Given the description of an element on the screen output the (x, y) to click on. 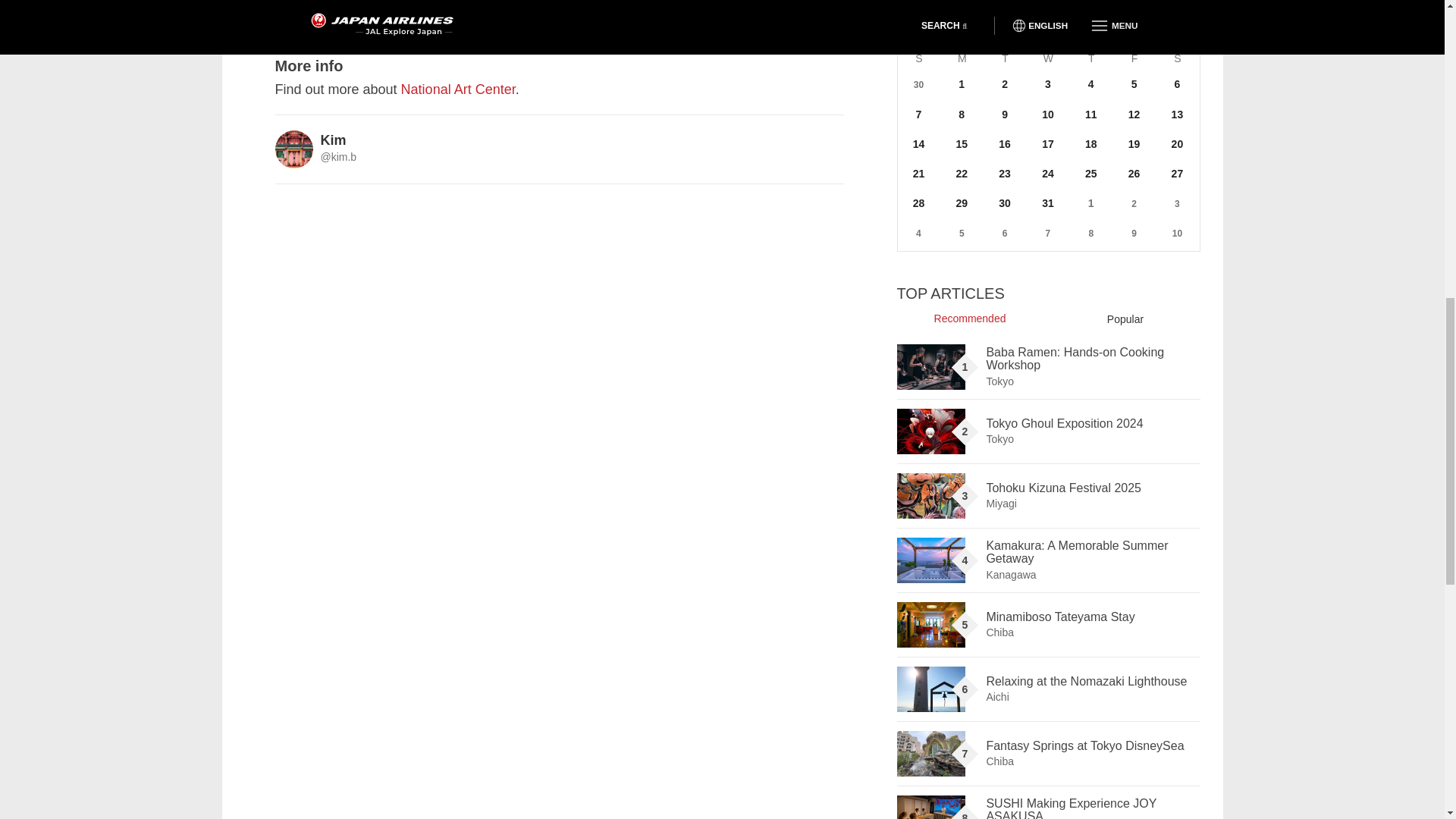
Minamiboso Tateyama Stay (930, 624)
Tohoku Kizuna Festival 2025 (930, 495)
Tokyo Ghoul Exposition 2024 (930, 431)
Baba Ramen: Hands-on Cooking Workshop (930, 366)
Fantasy Springs at Tokyo DisneySea (930, 753)
SUSHI Making Experience JOY ASAKUSA (930, 807)
Kamakura: A Memorable Summer Getaway (930, 560)
Relaxing at the Nomazaki Lighthouse (930, 688)
